Given the description of an element on the screen output the (x, y) to click on. 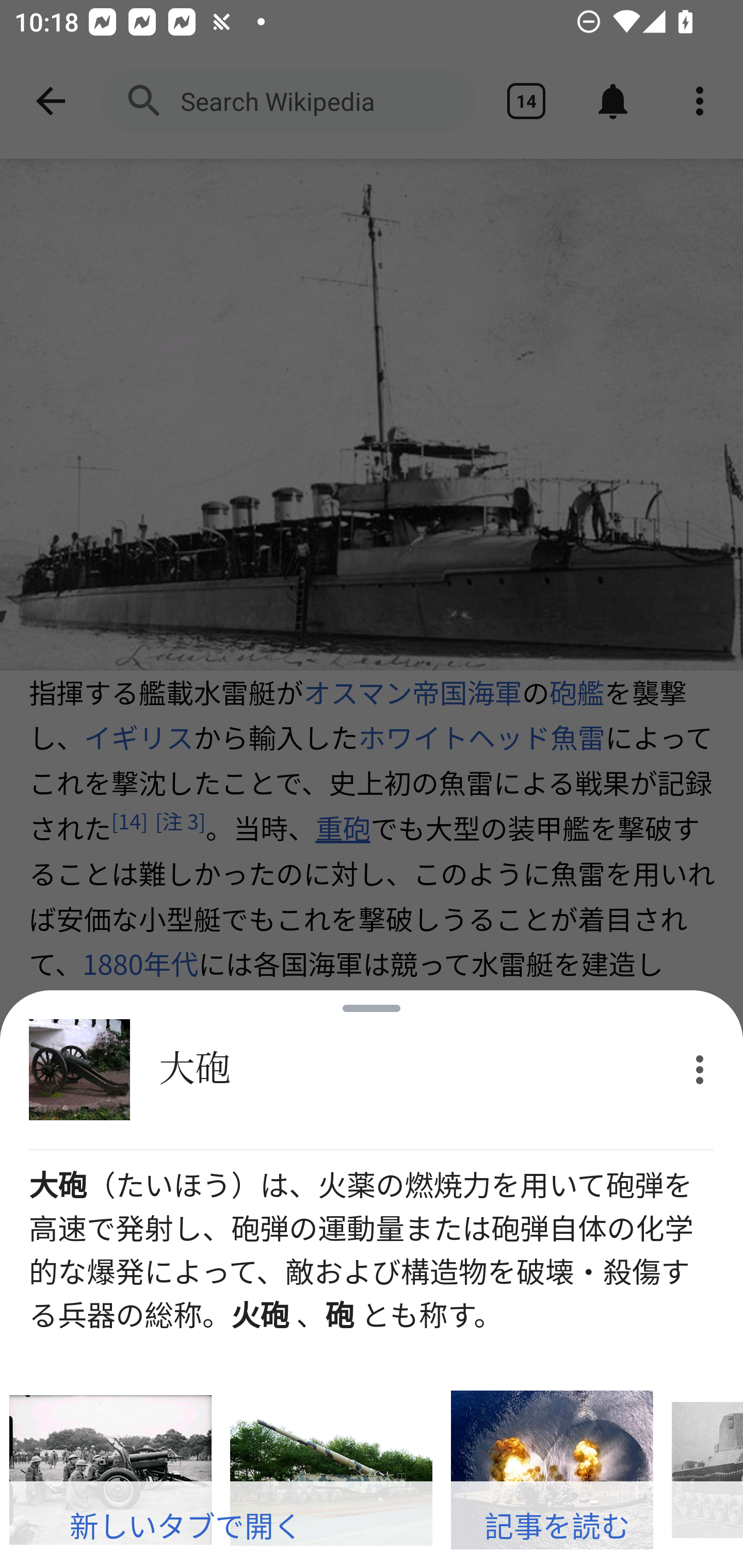
大砲 More options (371, 1069)
More options (699, 1070)
新しいタブで開く (185, 1524)
記事を読む (557, 1524)
